Given the description of an element on the screen output the (x, y) to click on. 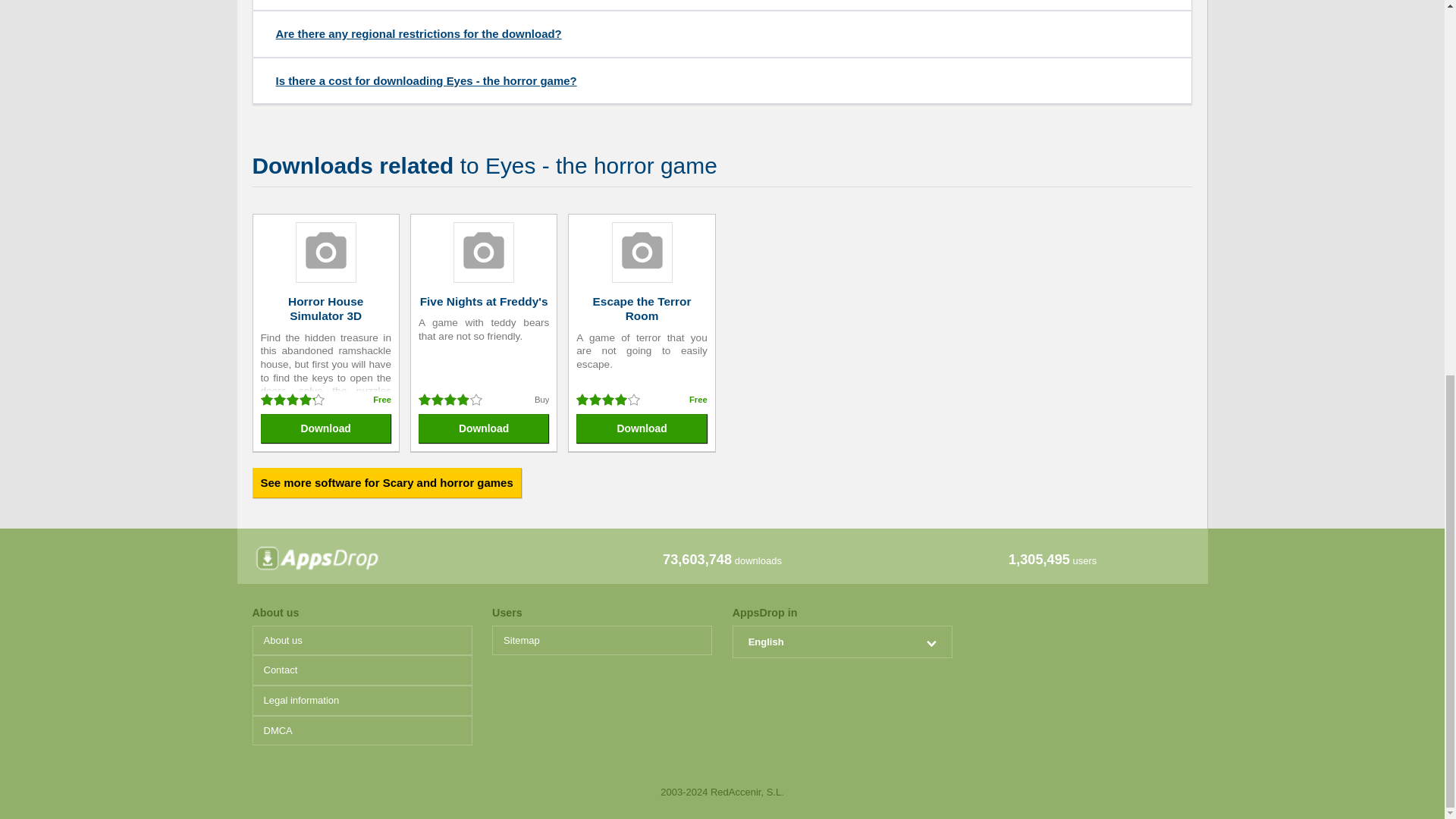
See more software for Scary and horror games (386, 482)
Download horror house simulator 3d (325, 429)
DMCA (361, 730)
Legal information (361, 700)
About us (361, 640)
Download (483, 429)
Contact (361, 670)
Download (325, 429)
five nights freddy: Software of Scary and horror games (483, 301)
five nights freddy: Software of Scary and horror games (482, 253)
Sitemap (601, 640)
Horror House Simulator 3D (325, 308)
Escape the Terror Room (641, 308)
Five Nights at Freddy's (483, 301)
horror house simulator 3d: Software of Scary and horror (325, 308)
